Given the description of an element on the screen output the (x, y) to click on. 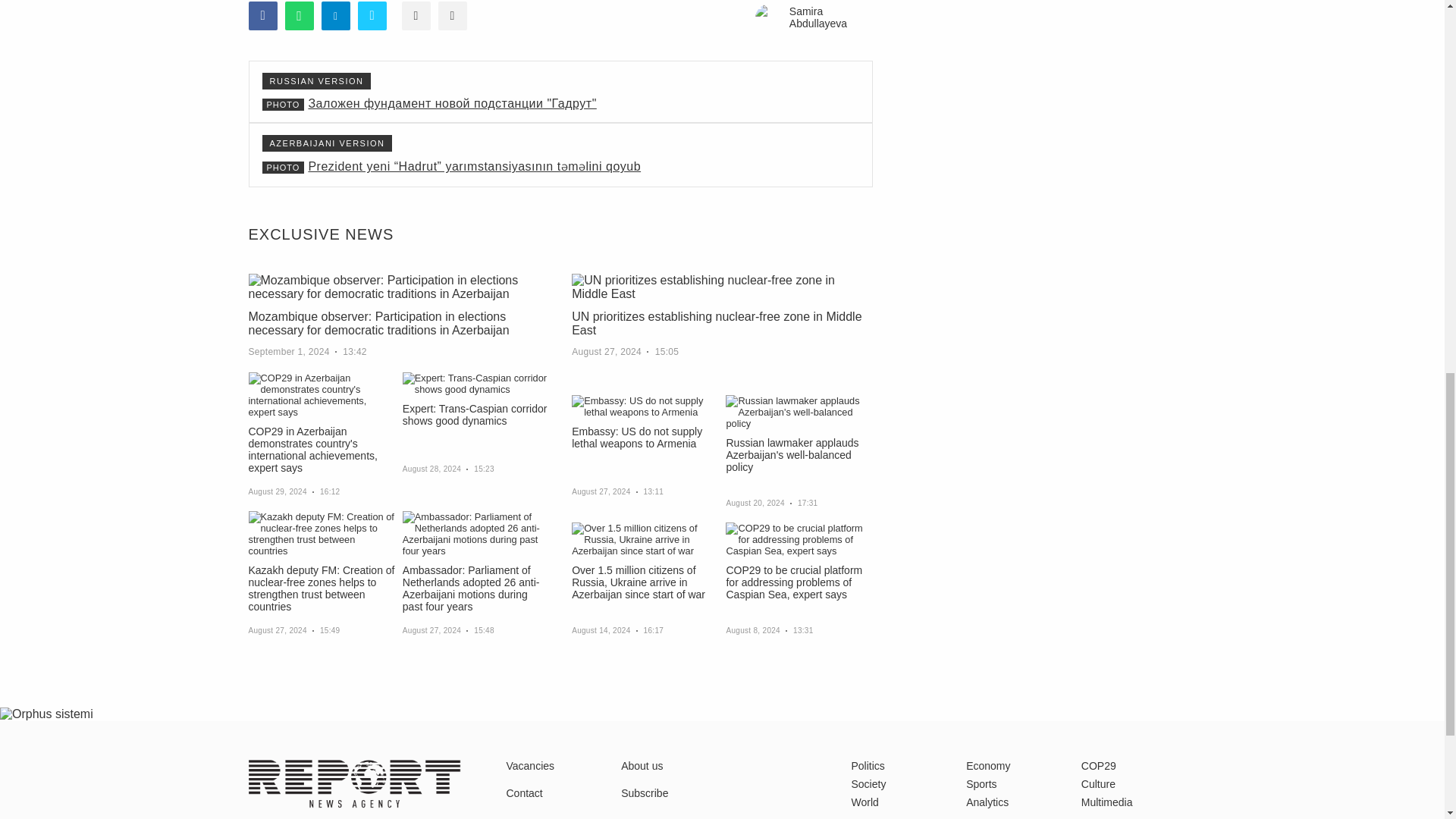
Expert: Trans-Caspian corridor shows good dynamics (475, 383)
